Given the description of an element on the screen output the (x, y) to click on. 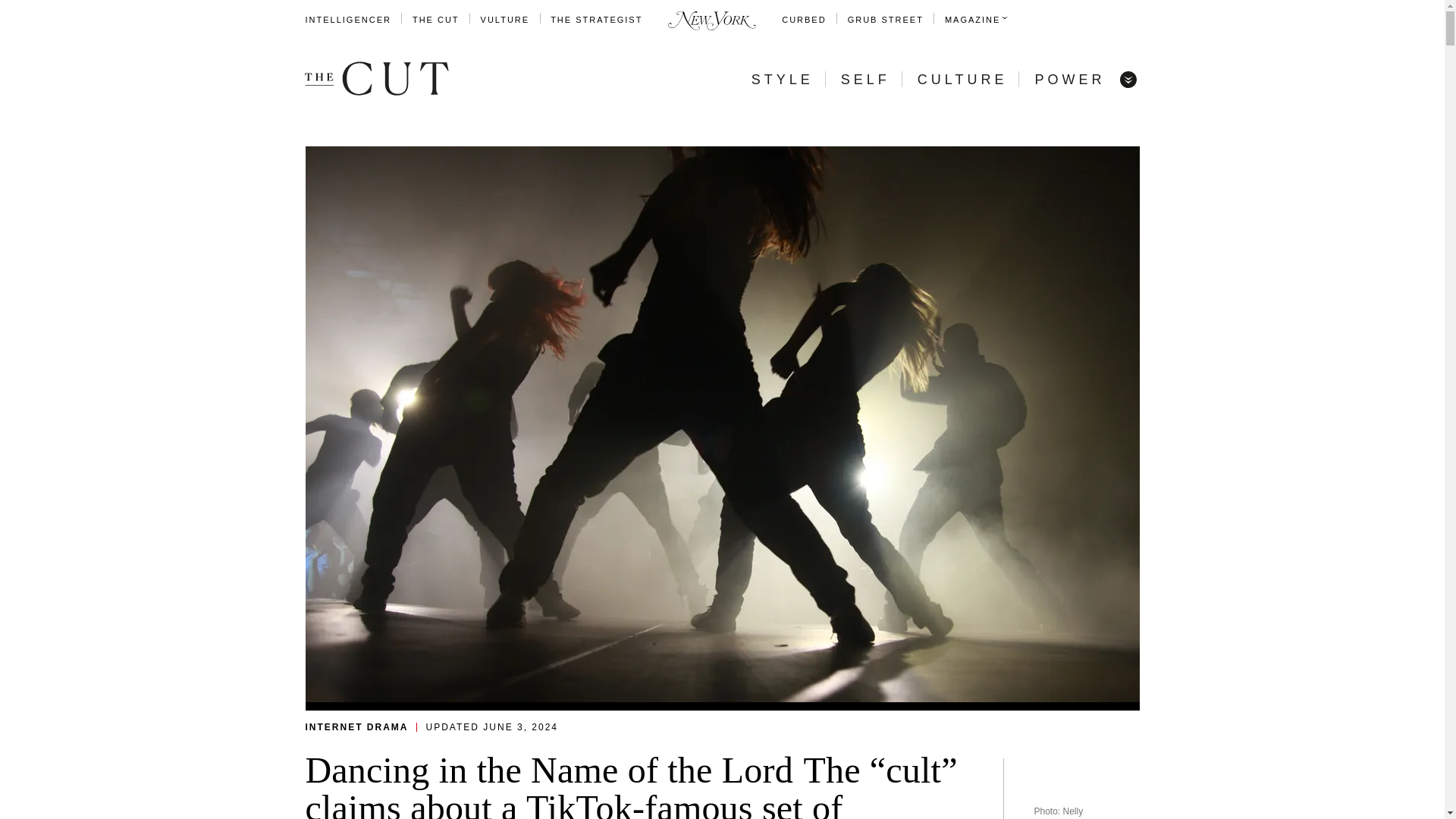
GRUB STREET (885, 19)
Menu (1127, 78)
THE STRATEGIST (596, 19)
INTELLIGENCER (347, 19)
CULTURE (962, 79)
CURBED (803, 19)
STYLE (782, 79)
MAGAZINE (972, 19)
VULTURE (504, 19)
THE CUT (436, 19)
